Given the description of an element on the screen output the (x, y) to click on. 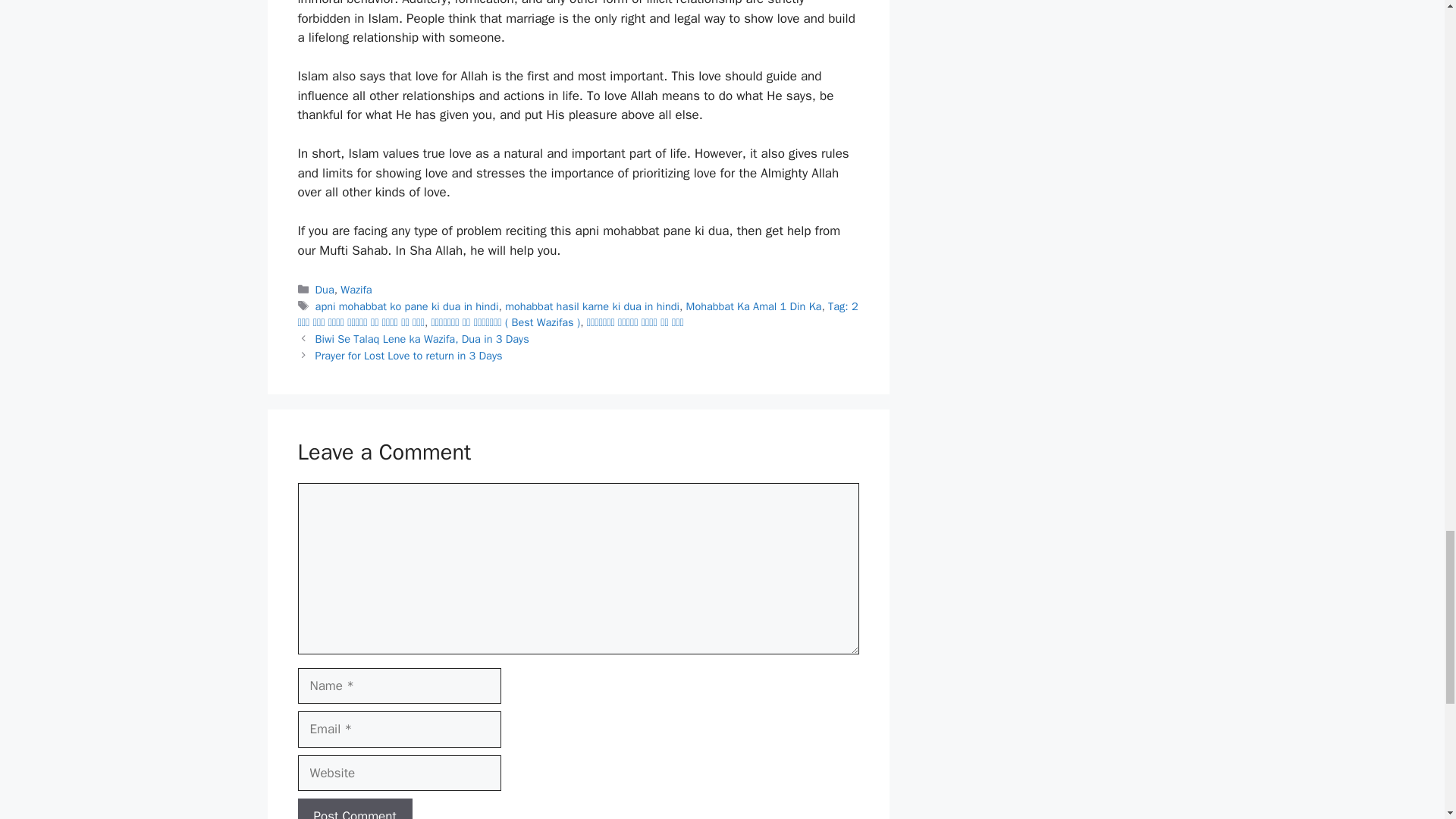
Post Comment (354, 808)
mohabbat hasil karne ki dua in hindi (592, 305)
Mohabbat Ka Amal 1 Din Ka (753, 305)
Dua (324, 289)
Prayer for Lost Love to return in 3 Days (408, 355)
apni mohabbat ko pane ki dua in hindi (407, 305)
Post Comment (354, 808)
Biwi Se Talaq Lene ka Wazifa, Dua in 3 Days (422, 338)
Wazifa (355, 289)
